Given the description of an element on the screen output the (x, y) to click on. 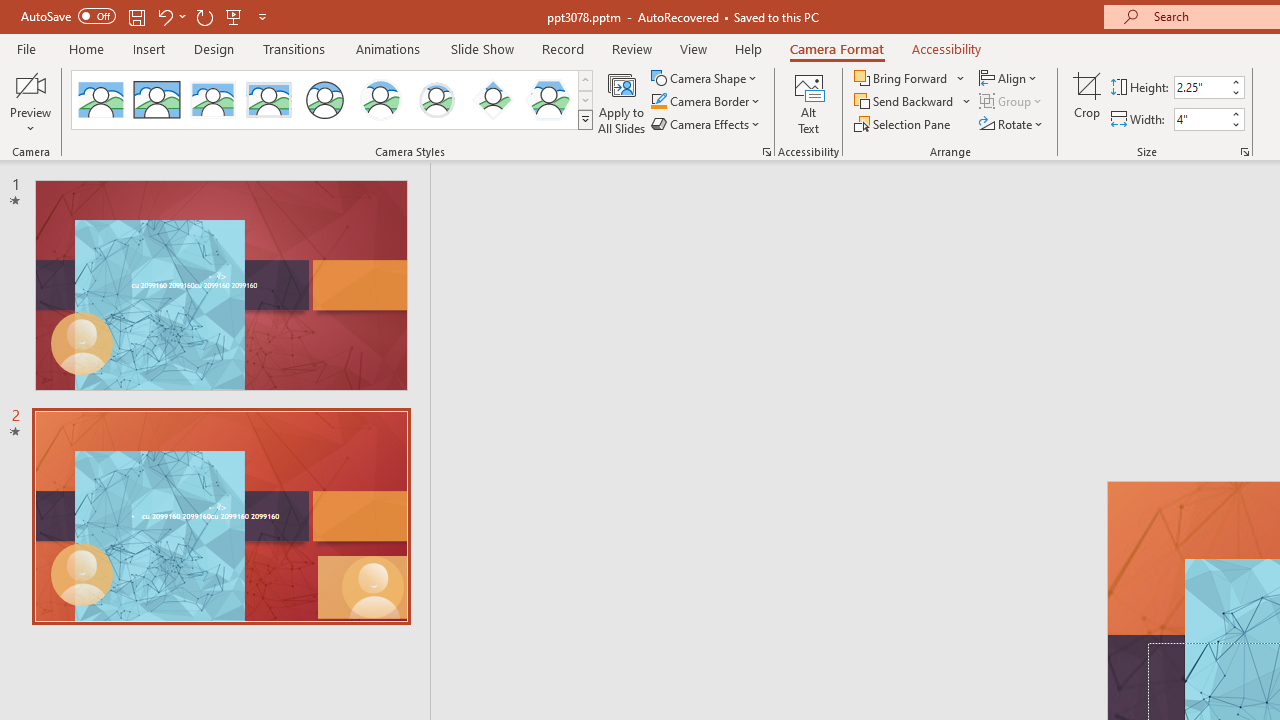
Enable Camera Preview (30, 84)
Center Shadow Circle (381, 100)
Bring Forward (902, 78)
Selection Pane... (904, 124)
Camera Border (706, 101)
Cameo Width (1201, 119)
Camera Border Green, Accent 1 (658, 101)
Camera Effects (706, 124)
Camera Format (836, 48)
Size and Position... (1244, 151)
